Given the description of an element on the screen output the (x, y) to click on. 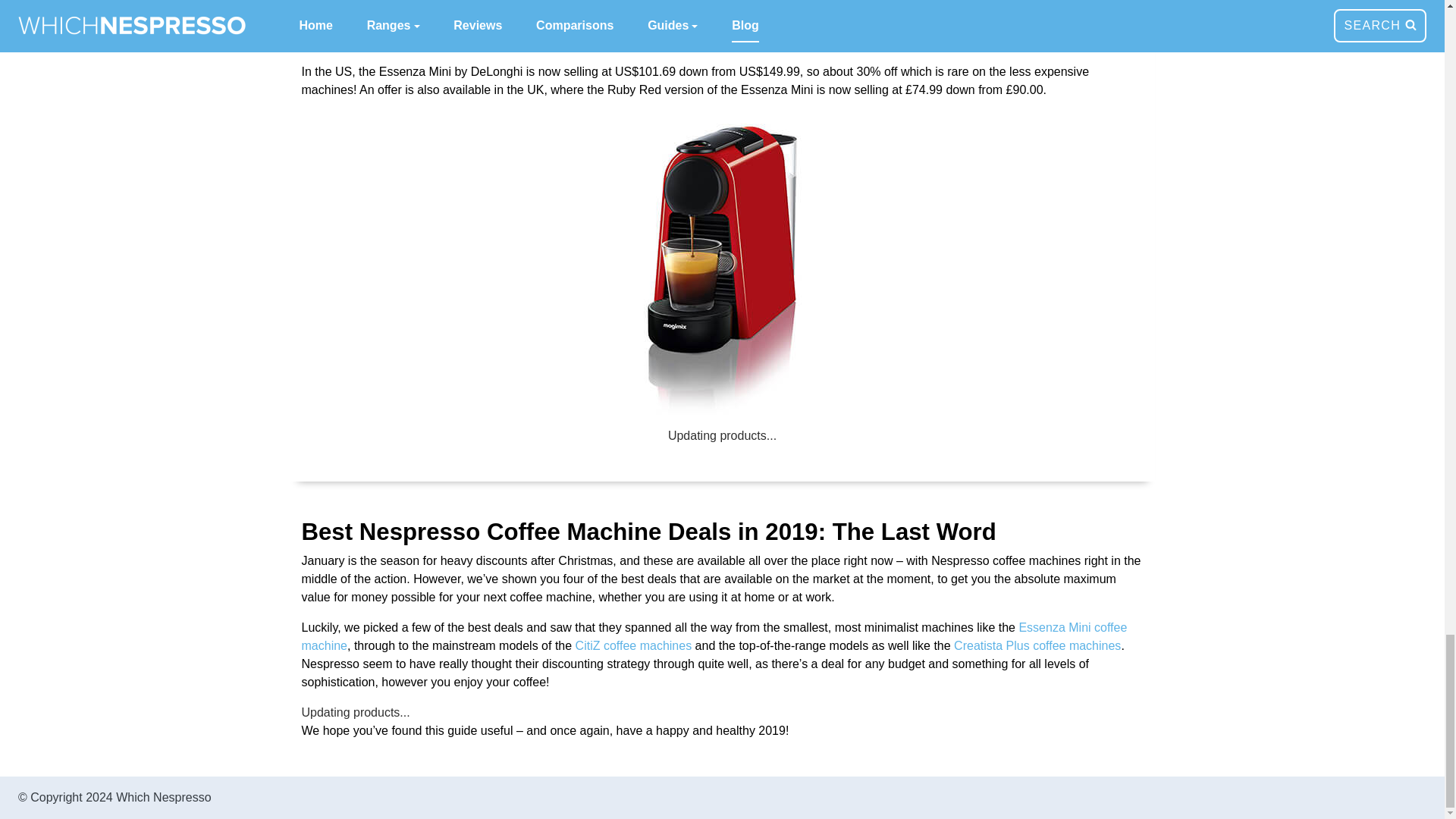
Creatista Plus coffee machines (1037, 645)
CitiZ coffee machines (634, 645)
Essenza Mini coffee machine (713, 635)
